Given the description of an element on the screen output the (x, y) to click on. 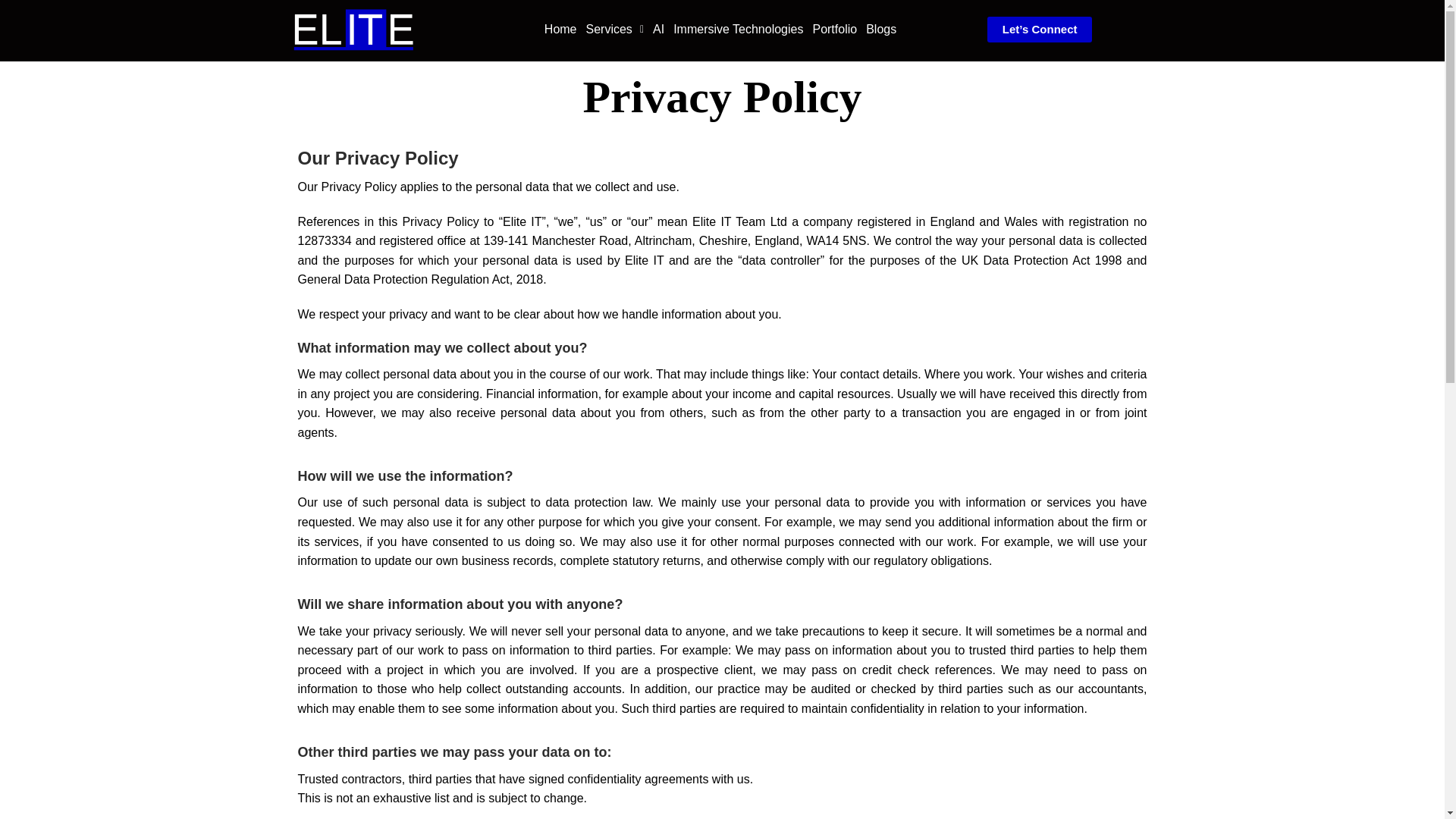
Immersive Technologies (738, 29)
Home (560, 29)
Services (613, 29)
Portfolio (834, 29)
Blogs (881, 29)
